Given the description of an element on the screen output the (x, y) to click on. 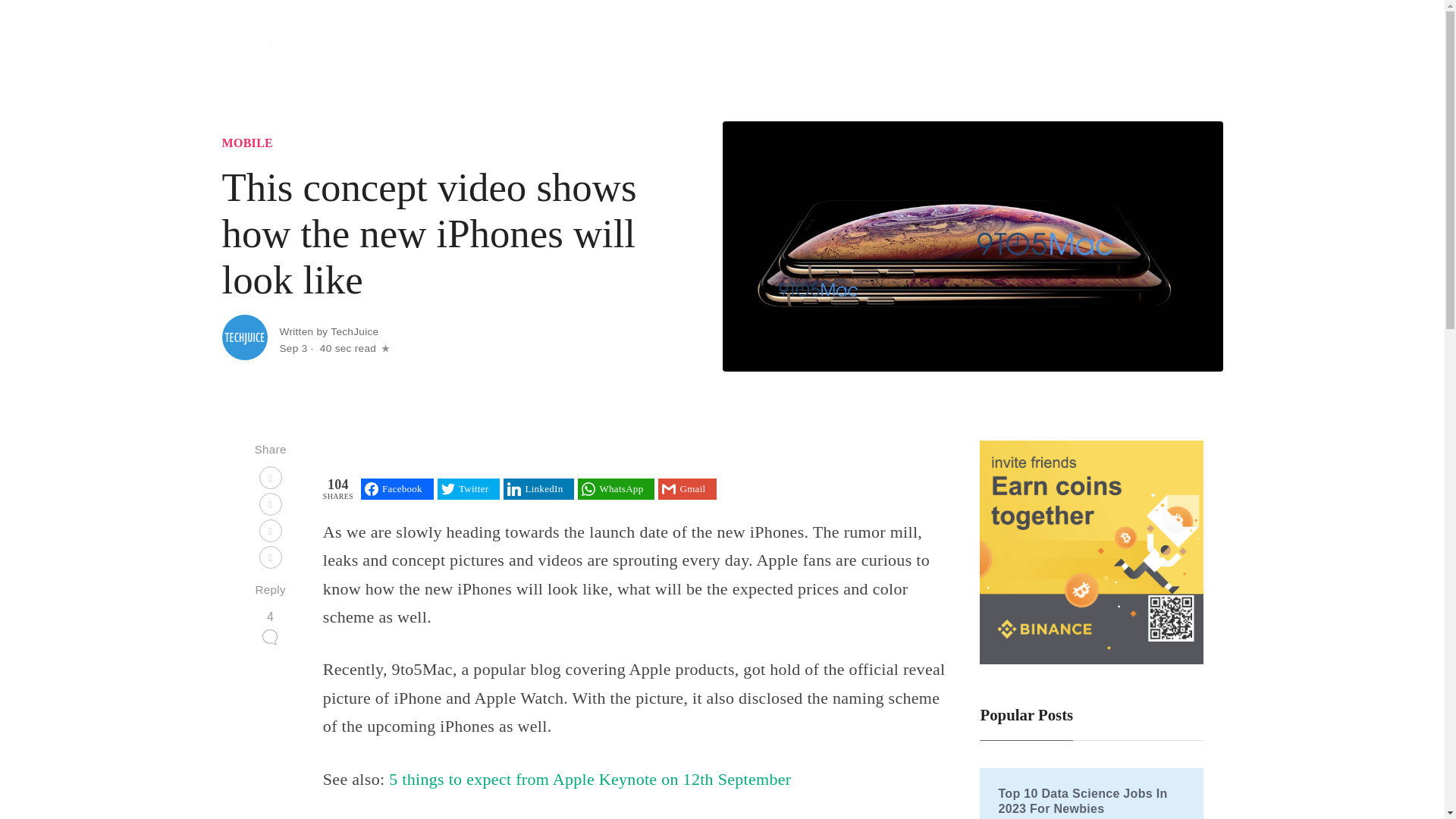
Share on LinkedIn (538, 488)
Technology (849, 49)
Investment (1037, 49)
Startups (914, 49)
Facebook (397, 488)
Mobile (972, 49)
Share on Facebook (397, 488)
Share on WhatsApp (615, 488)
Share on Twitter (468, 488)
Writers (1192, 49)
Share on Gmail (687, 488)
Written by TechJuice (328, 331)
Online Earning (1116, 49)
Twitter (468, 488)
LinkedIn (538, 488)
